Given the description of an element on the screen output the (x, y) to click on. 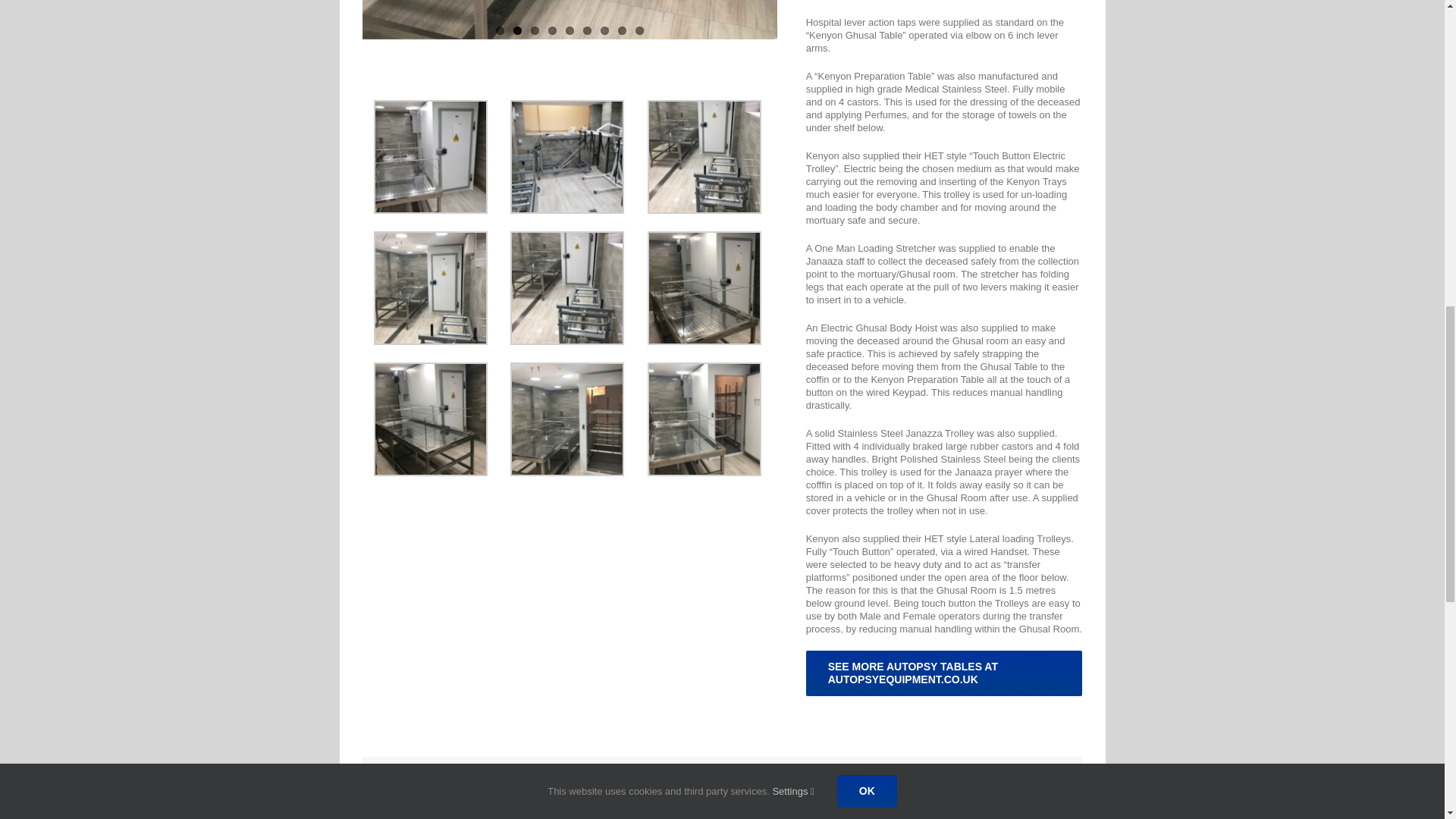
1 (499, 30)
9 (638, 30)
6 (587, 30)
5 (569, 30)
8 (621, 30)
7 (603, 30)
4 (552, 30)
3 (534, 30)
2 (517, 30)
